Given the description of an element on the screen output the (x, y) to click on. 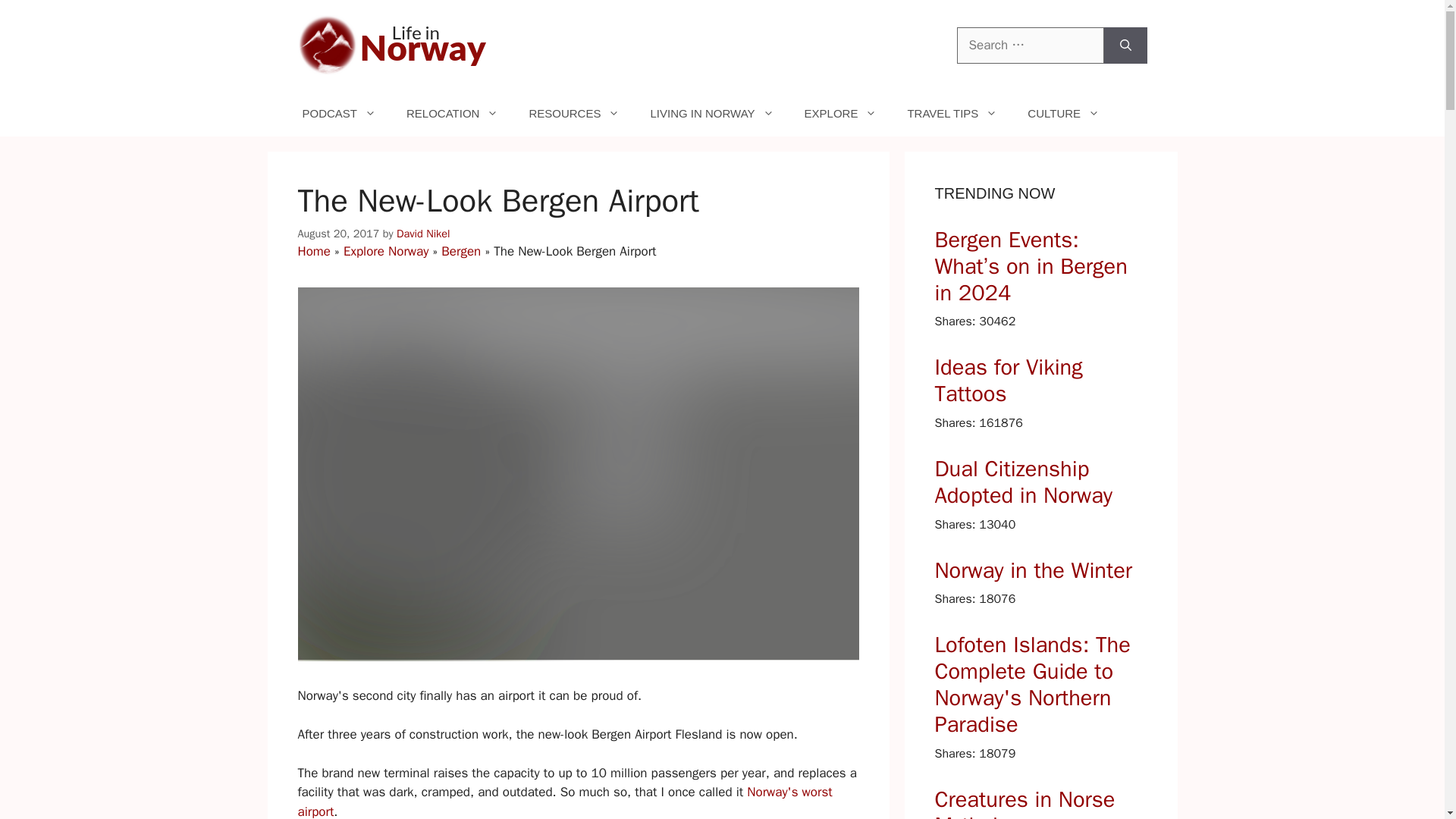
EXPLORE (840, 113)
View all posts by David Nikel (422, 233)
LIVING IN NORWAY (711, 113)
PODCAST (338, 113)
RESOURCES (573, 113)
RELOCATION (452, 113)
Search for: (1029, 45)
